Given the description of an element on the screen output the (x, y) to click on. 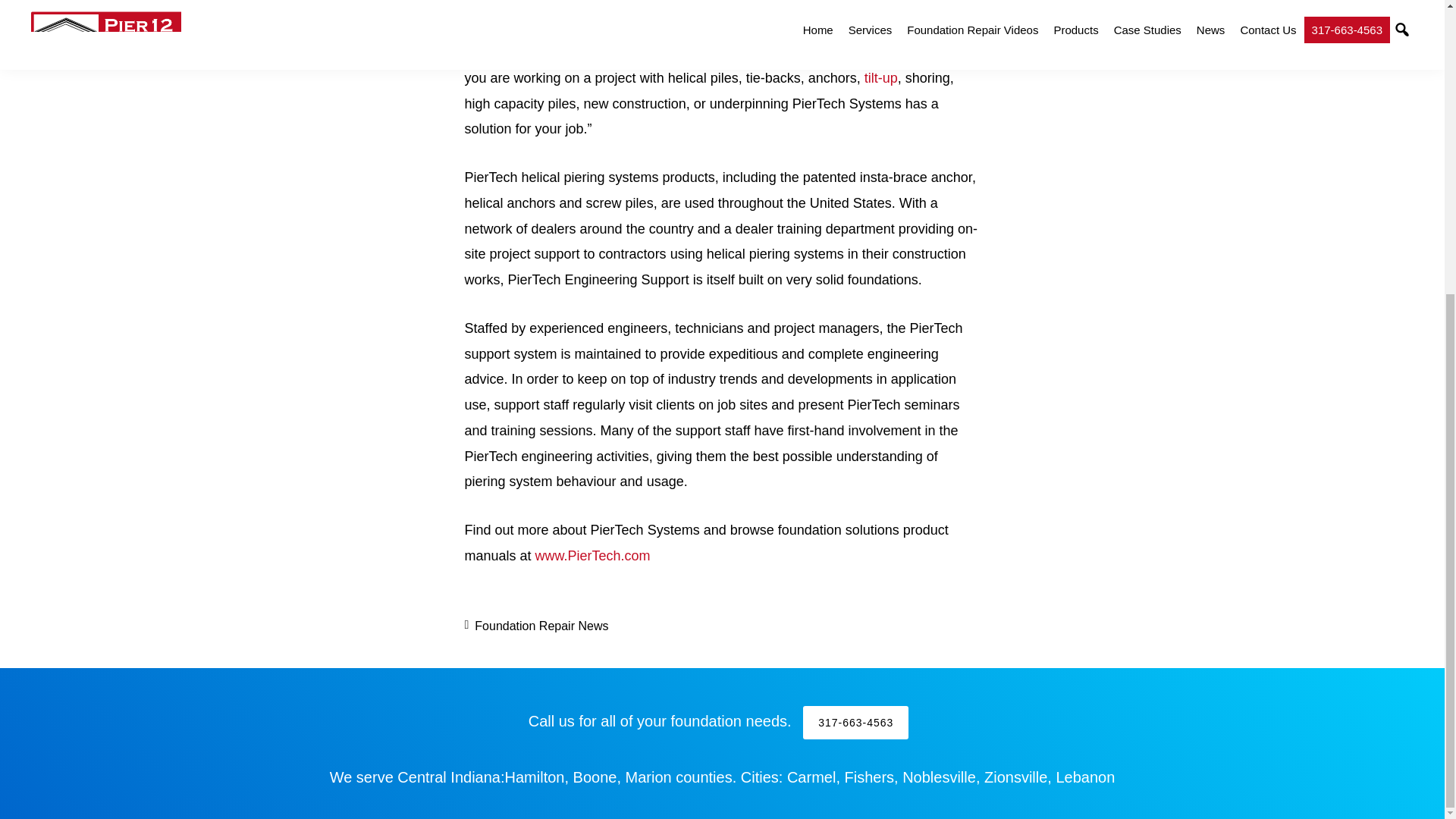
Sitemap (868, 328)
tilt-up (881, 77)
317-663-4563 (855, 722)
www.PierTech.com (592, 555)
Foundation Repair News (541, 625)
